Given the description of an element on the screen output the (x, y) to click on. 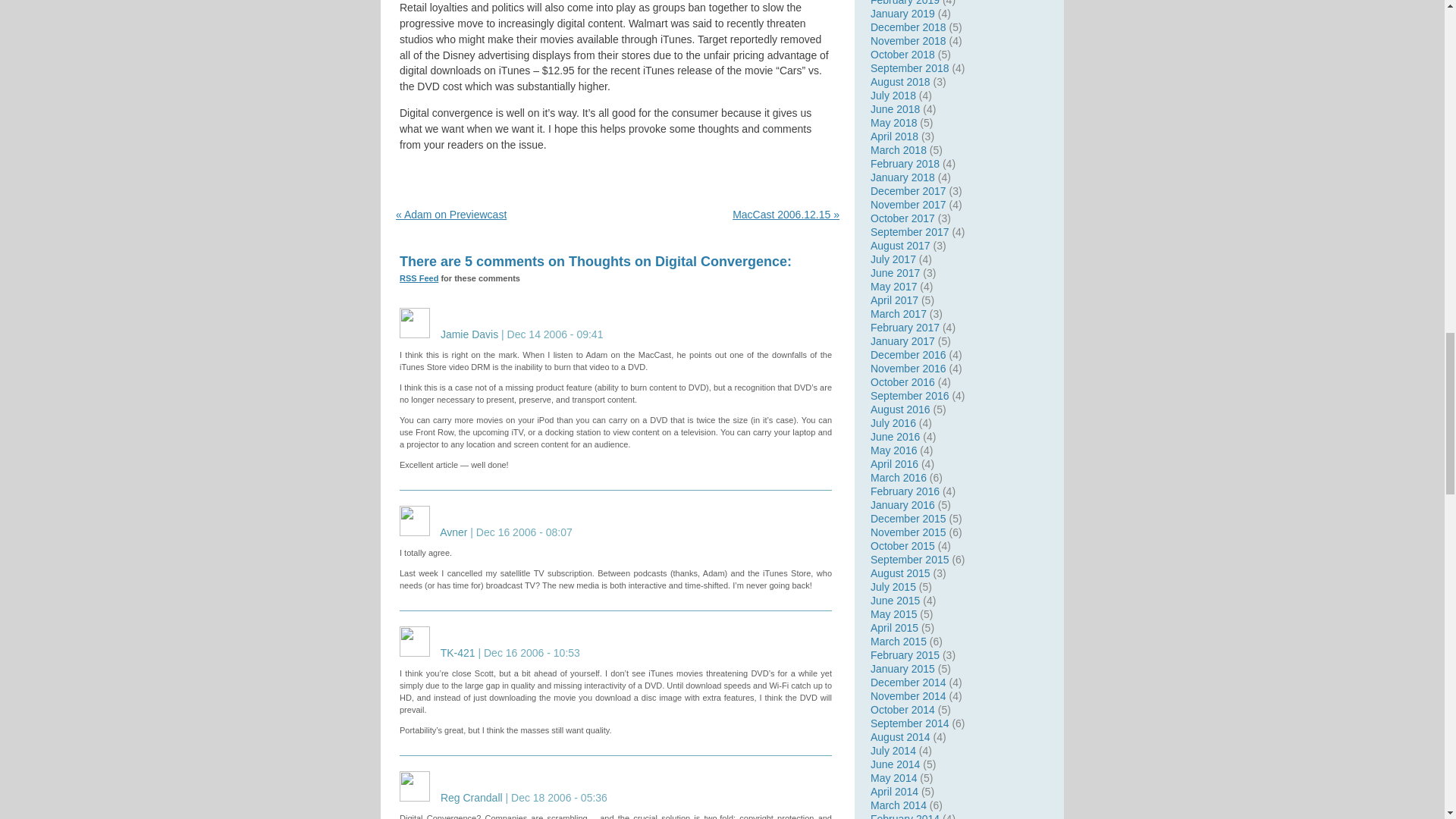
author site (458, 653)
author site (471, 797)
author site (469, 334)
author site (453, 532)
